Given the description of an element on the screen output the (x, y) to click on. 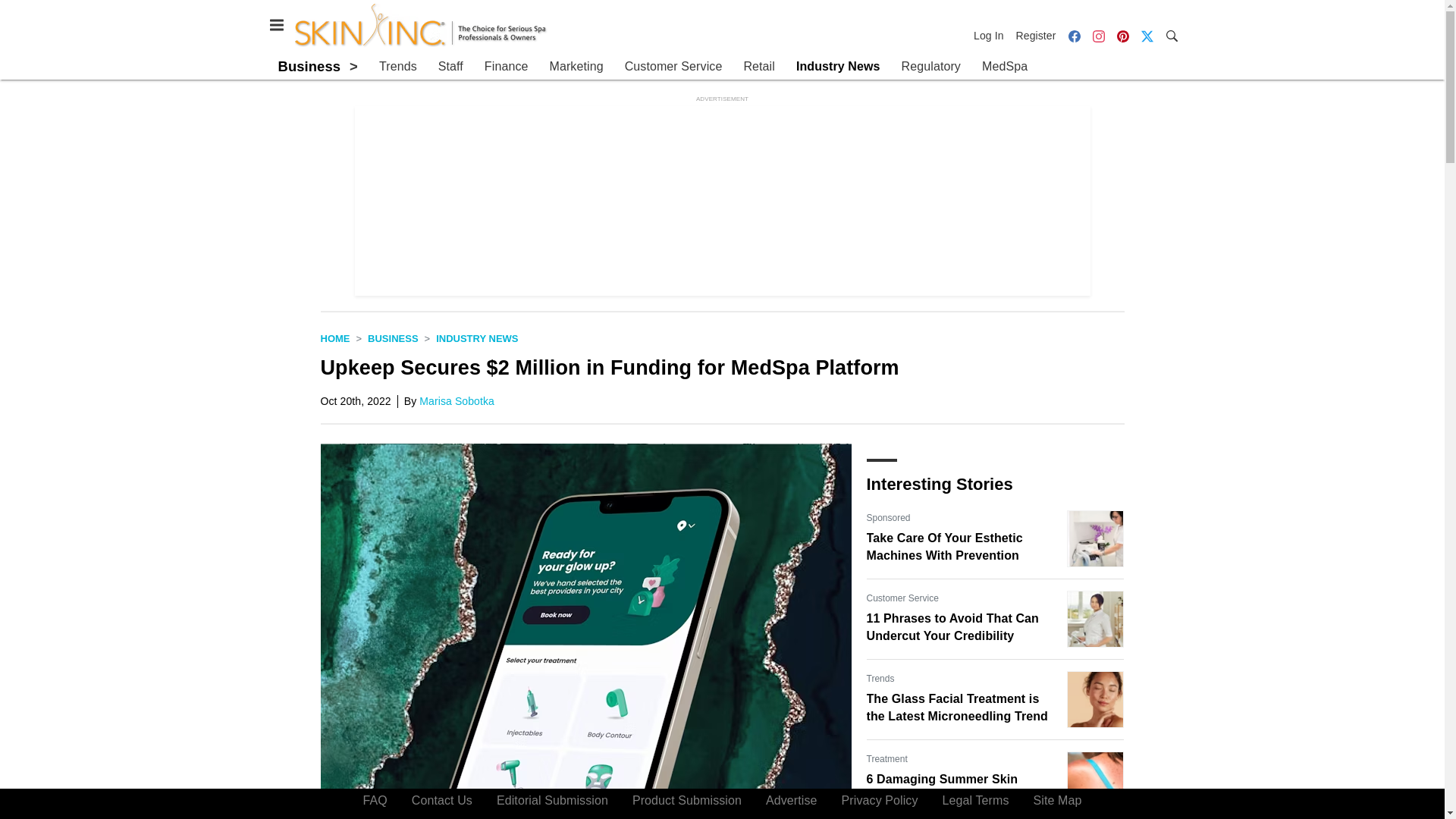
Instagram icon (1097, 36)
Marketing (575, 66)
Log In (992, 35)
MedSpa (1004, 66)
Retail (758, 66)
Finance (506, 66)
Business (392, 337)
Treatment (886, 758)
Trends (397, 66)
Twitter X icon (1146, 36)
